Given the description of an element on the screen output the (x, y) to click on. 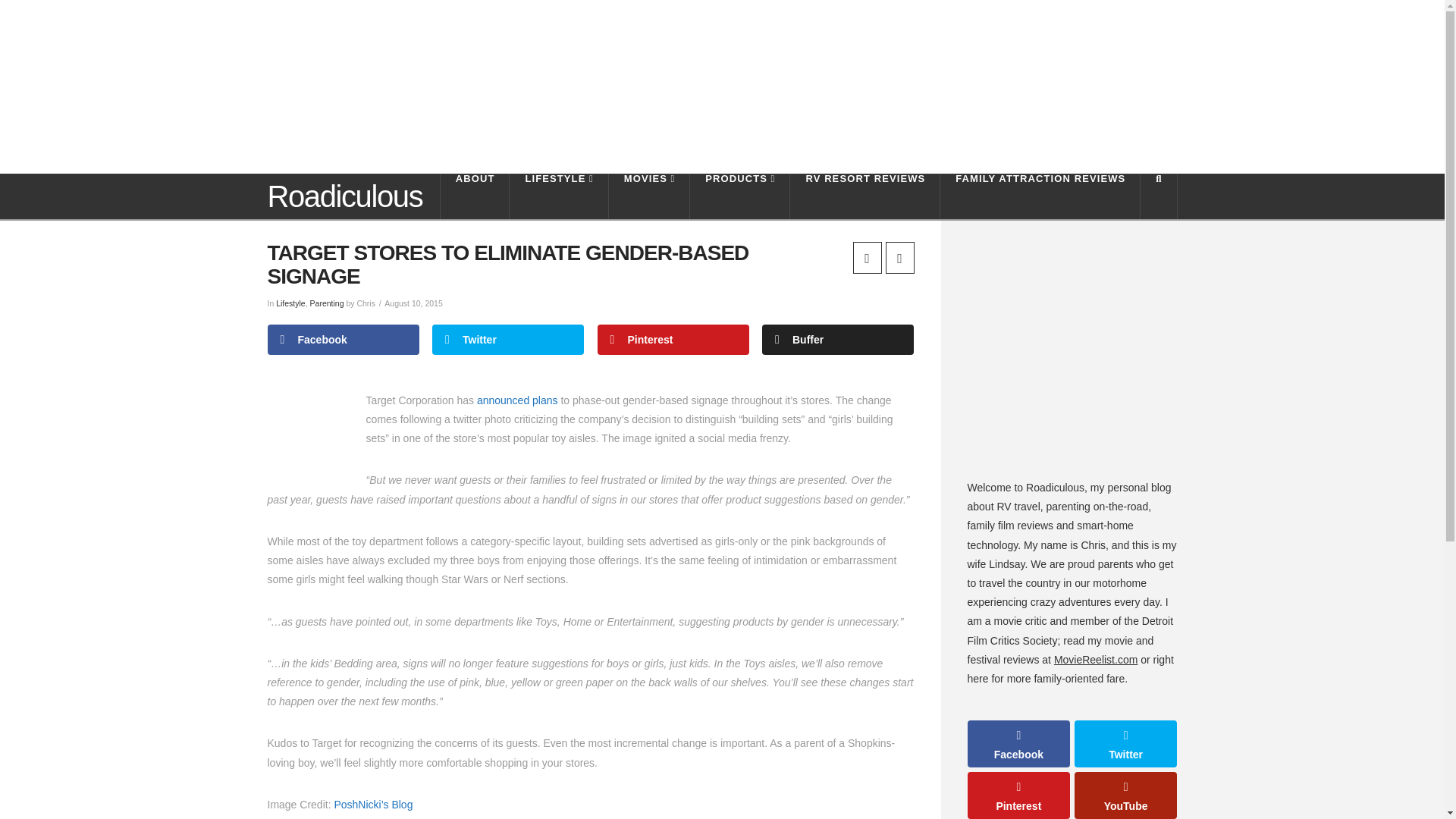
Roadiculous (344, 195)
PRODUCTS (740, 196)
ABOUT (475, 196)
MOVIES (649, 196)
LIFESTYLE (558, 196)
RV RESORT REVIEWS (865, 196)
Travel, Technology and Parenting Lifestyle Blog (344, 195)
FAMILY ATTRACTION REVIEWS (1040, 196)
